Given the description of an element on the screen output the (x, y) to click on. 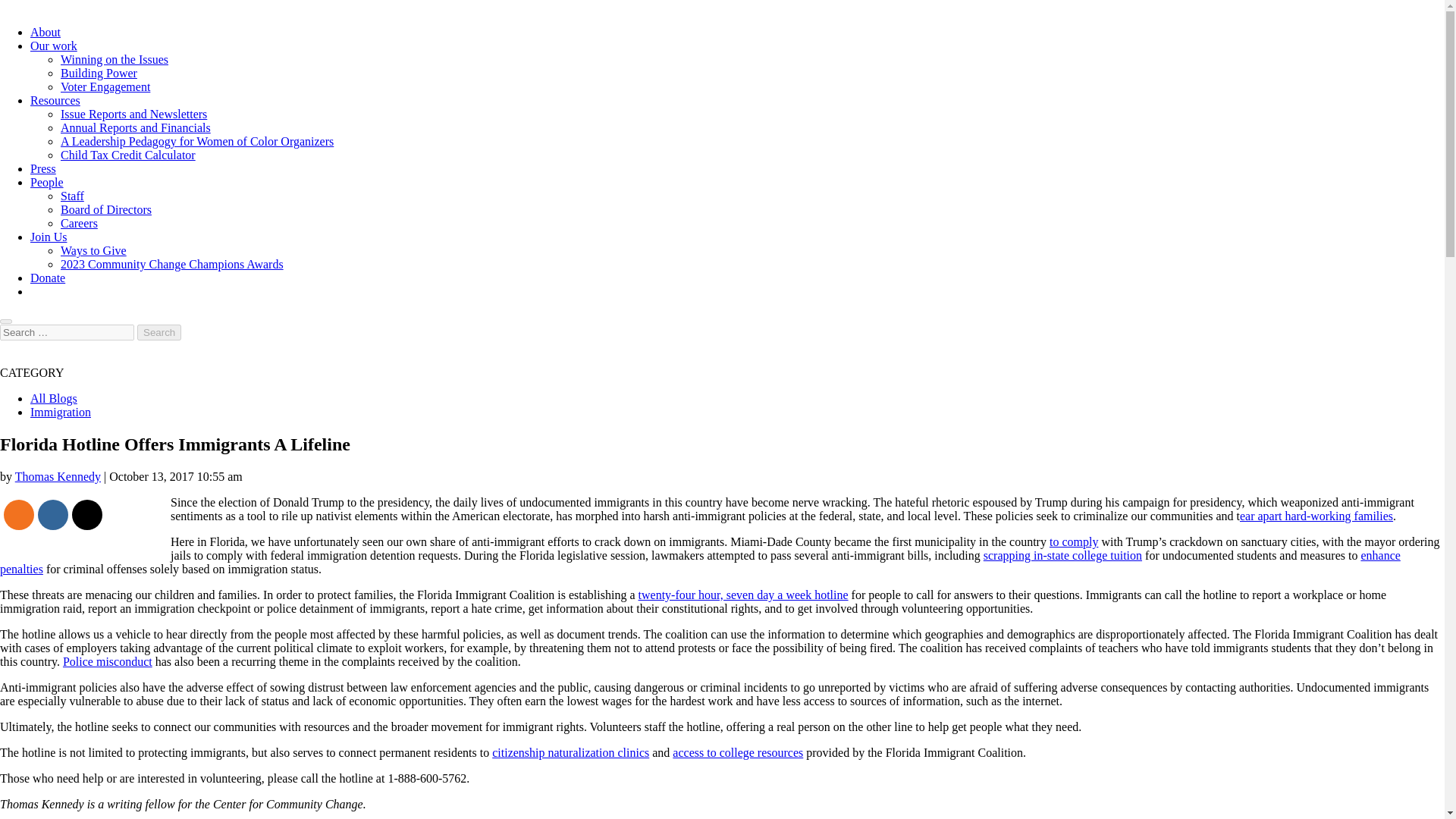
All Blogs (53, 398)
to comply (1073, 541)
Donate (47, 277)
Child Tax Credit Calculator (128, 154)
Staff (72, 195)
Search (158, 332)
Facebook (53, 514)
ear apart hard-working families (1316, 515)
Building Power (98, 72)
Board of Directors (106, 209)
Resources (55, 100)
Immigration (60, 411)
Winning on the Issues (114, 59)
Thomas Kennedy (57, 476)
Join Us (48, 236)
